Given the description of an element on the screen output the (x, y) to click on. 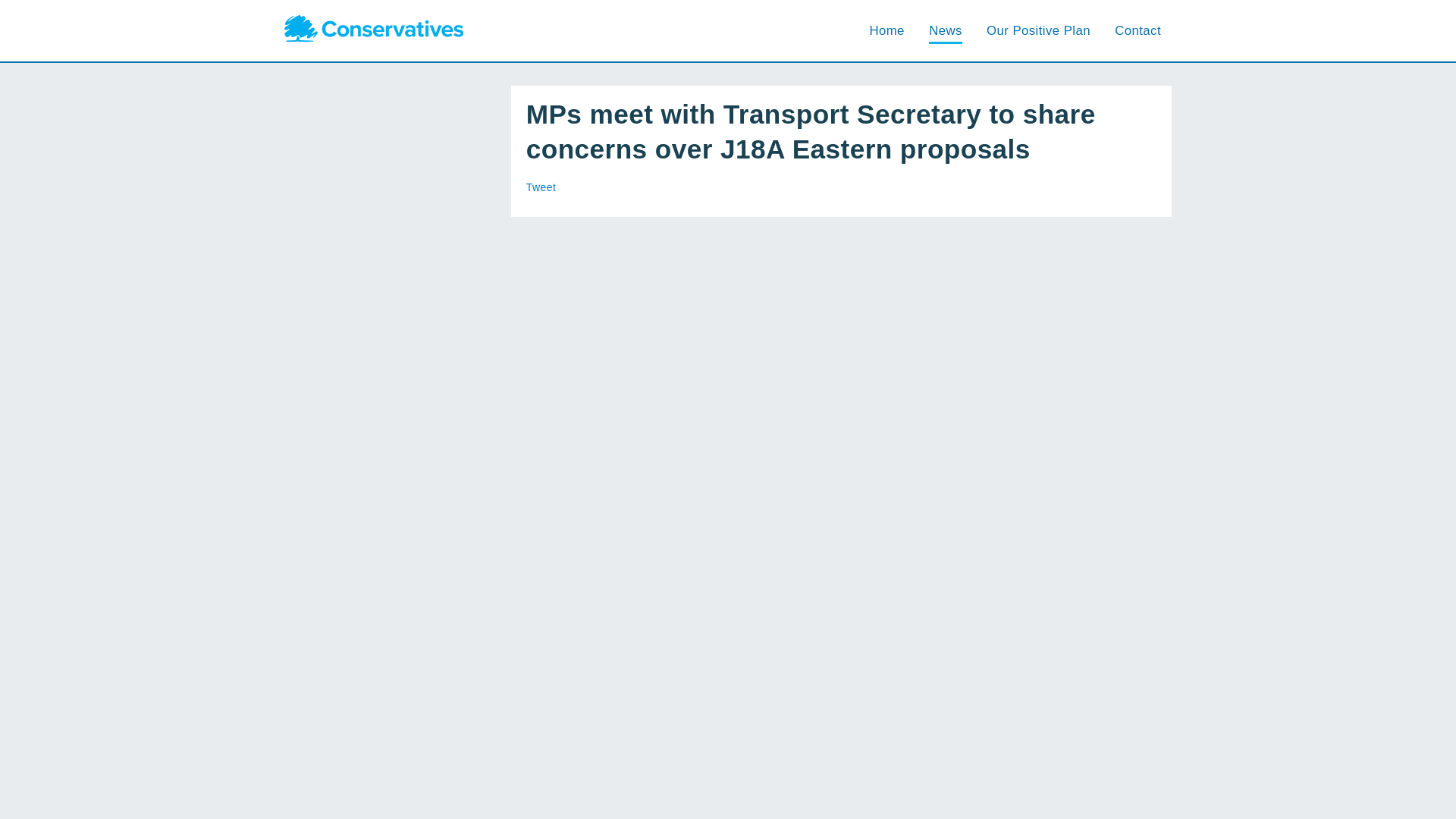
News (945, 30)
Our Positive Plan (1038, 30)
Home (886, 30)
Tweet (540, 186)
Contact (1137, 30)
